Given the description of an element on the screen output the (x, y) to click on. 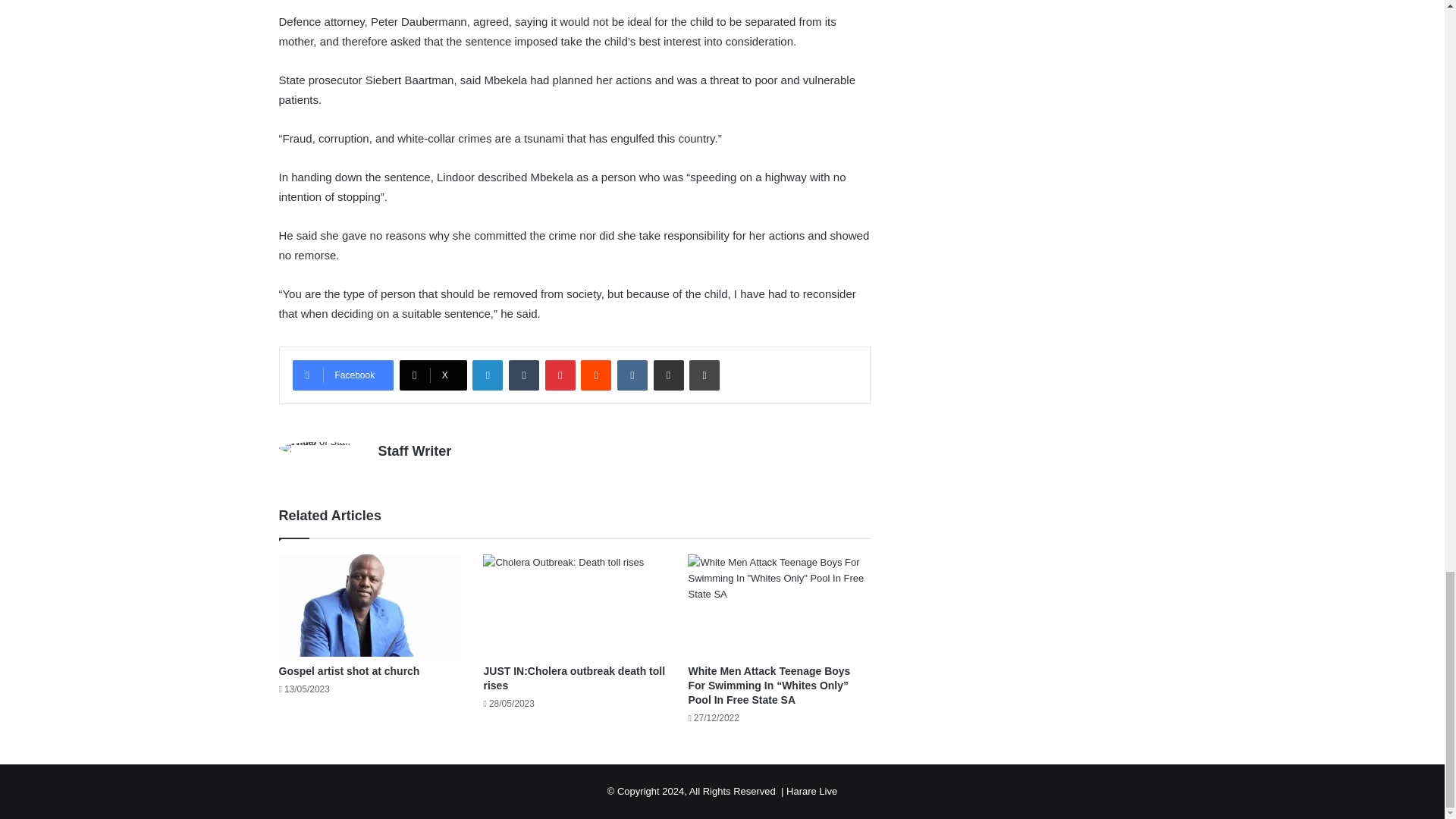
X (432, 375)
LinkedIn (486, 375)
Facebook (343, 375)
Print (703, 375)
Print (703, 375)
Gospel artist shot at church (349, 671)
Share via Email (668, 375)
VKontakte (632, 375)
Reddit (595, 375)
Share via Email (668, 375)
Pinterest (559, 375)
Reddit (595, 375)
LinkedIn (486, 375)
VKontakte (632, 375)
Facebook (343, 375)
